Given the description of an element on the screen output the (x, y) to click on. 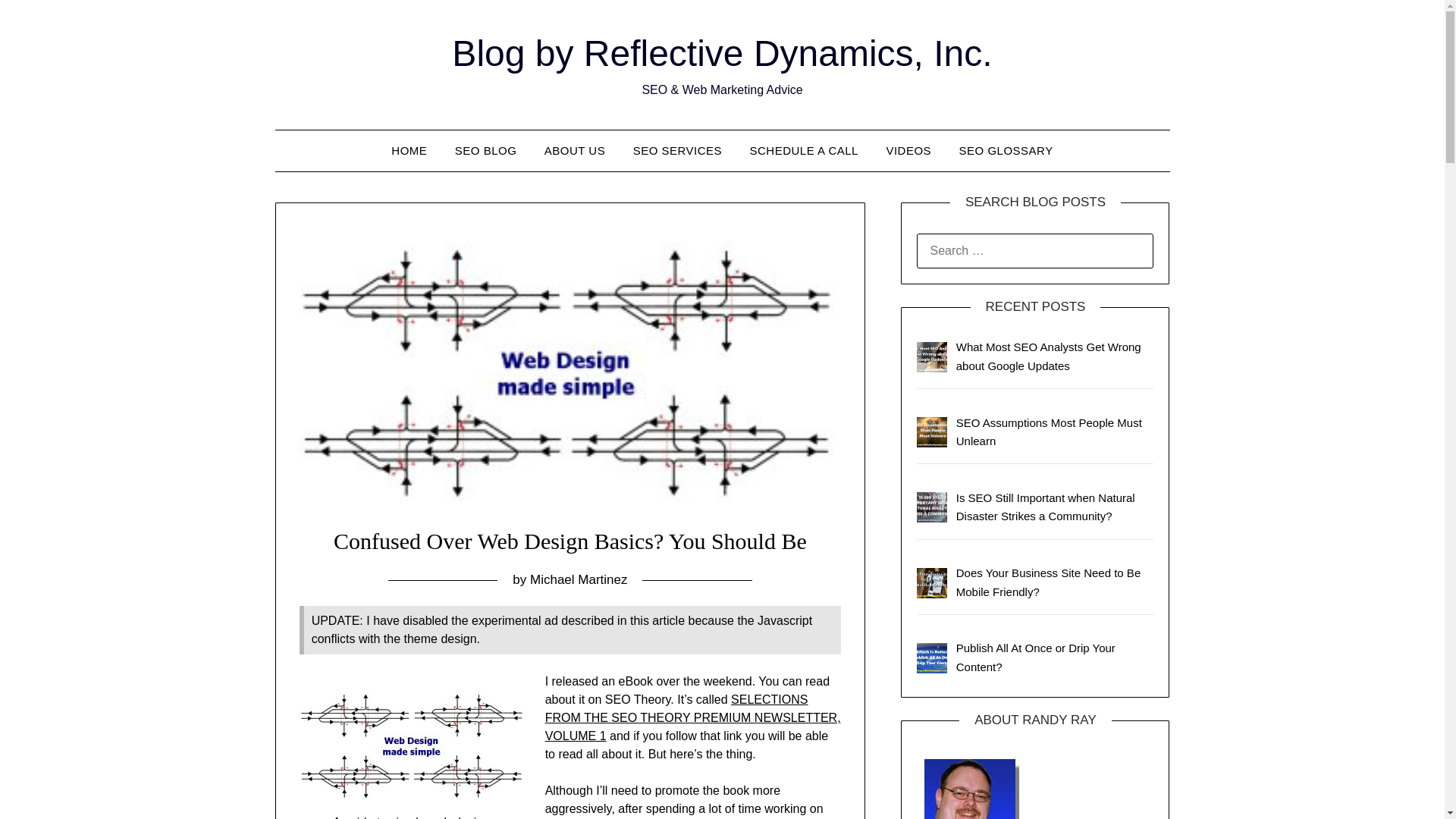
VIDEOS (908, 150)
SEO SERVICES (677, 150)
SEO BLOG (485, 150)
SCHEDULE A CALL (804, 150)
SEO GLOSSARY (1006, 150)
What Most SEO Analysts Get Wrong about Google Updates (1048, 355)
Michael Martinez (578, 579)
ABOUT US (574, 150)
Search (38, 22)
Blog by Reflective Dynamics, Inc. (721, 53)
